Given the description of an element on the screen output the (x, y) to click on. 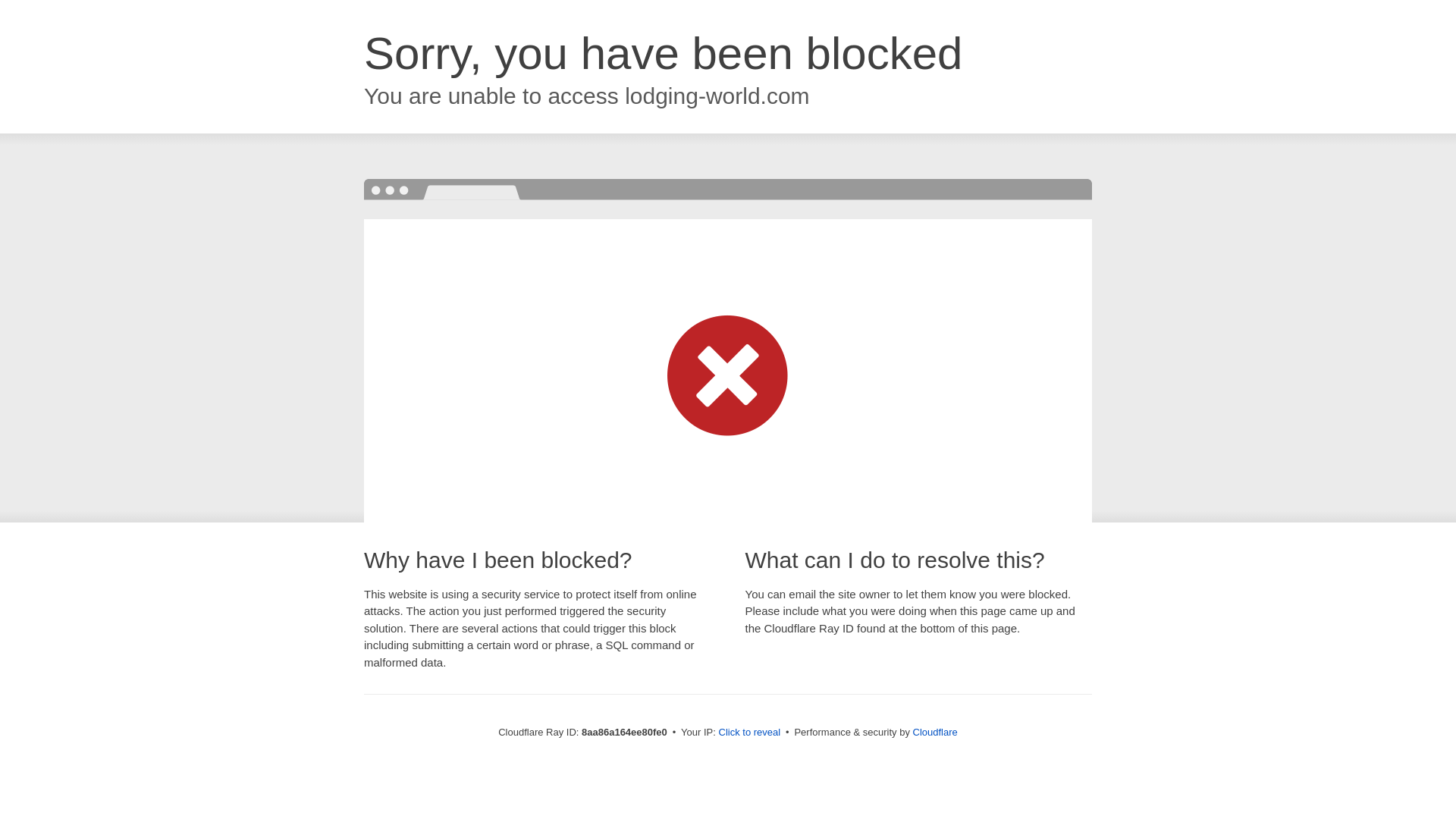
Cloudflare (935, 731)
Click to reveal (749, 732)
